Given the description of an element on the screen output the (x, y) to click on. 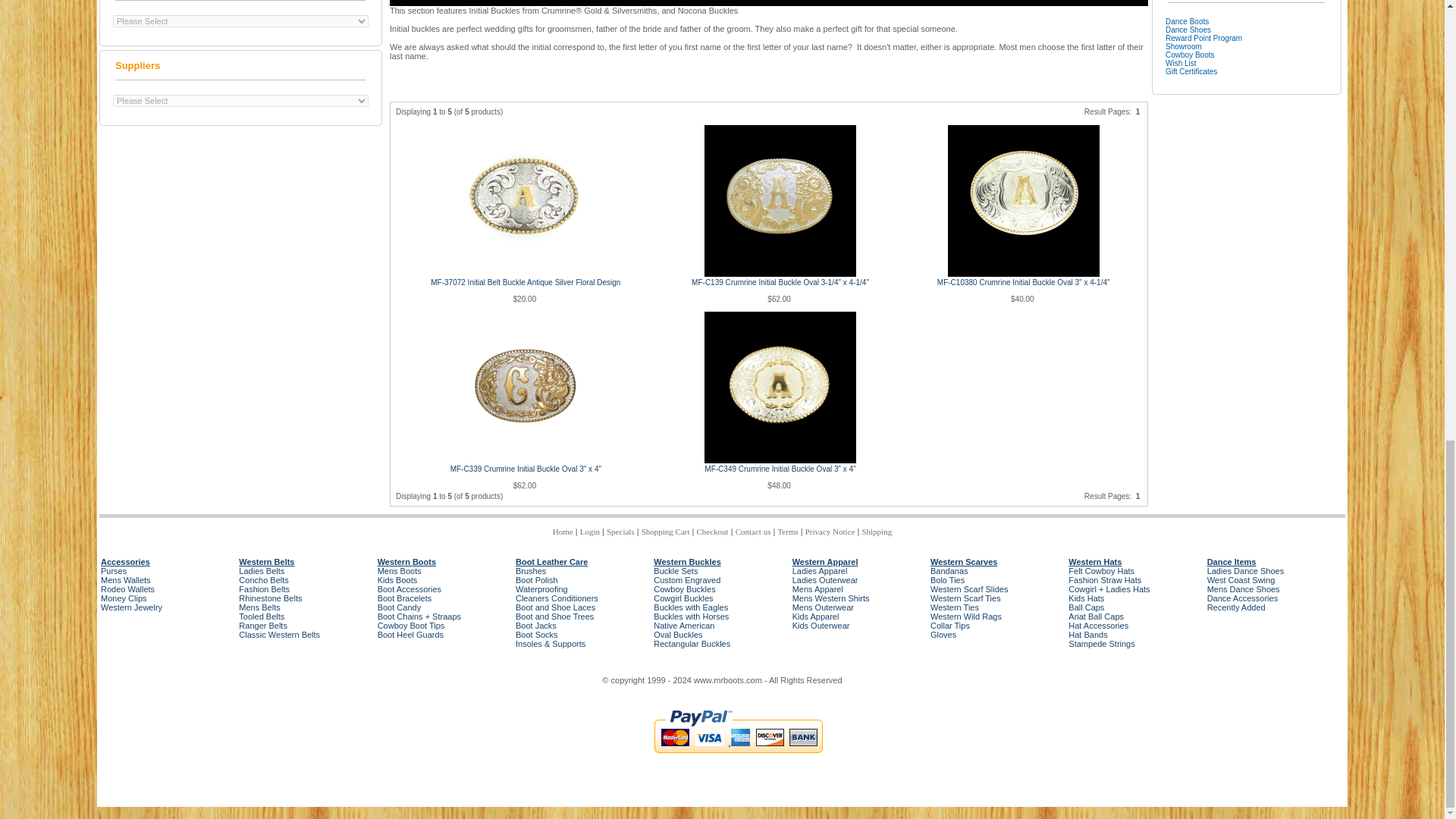
Money Clips (123, 597)
Western Jewelry (130, 606)
Mens Wallets (125, 579)
Rodeo Wallets (127, 588)
 MF-C339 Crumrine Initial Buckle Oval 3" x 4"  (525, 387)
Western Belts for Ladies, Men and Kids (266, 561)
Purses (113, 570)
Ladies Belts (260, 570)
 MF-37072 Initial Belt Buckle Antique Silver Floral Design  (525, 200)
Accessories (124, 561)
 MF-C349 Crumrine Initial Buckle Oval 3" x 4"  (780, 387)
